Given the description of an element on the screen output the (x, y) to click on. 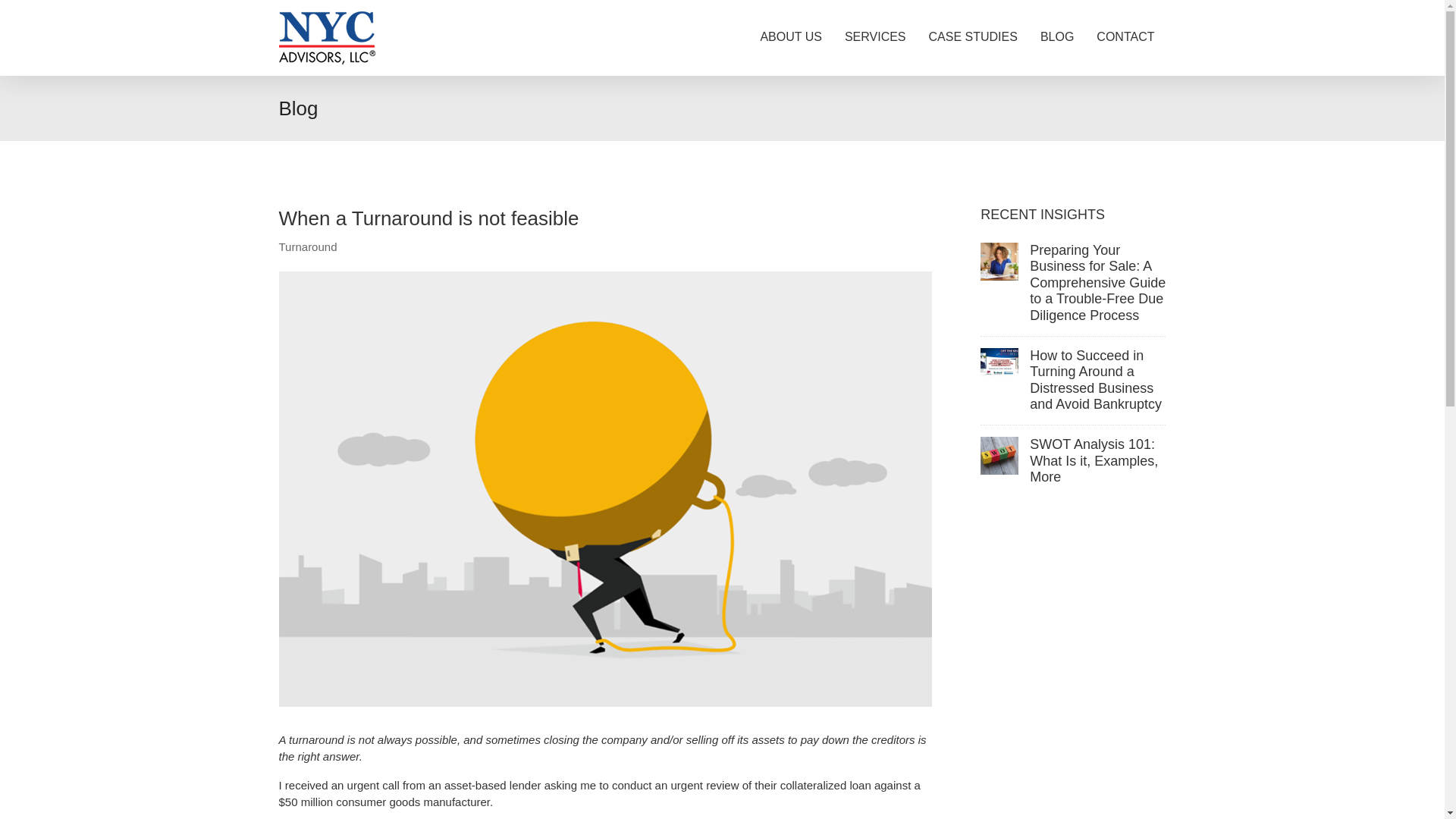
Turnaround (308, 246)
SERVICES (874, 37)
CONTACT (1125, 37)
CASE STUDIES (973, 37)
ABOUT US (790, 37)
NYC Advisors Logo (327, 37)
SWOT Analysis 101: What Is it, Examples, More (1093, 460)
